Given the description of an element on the screen output the (x, y) to click on. 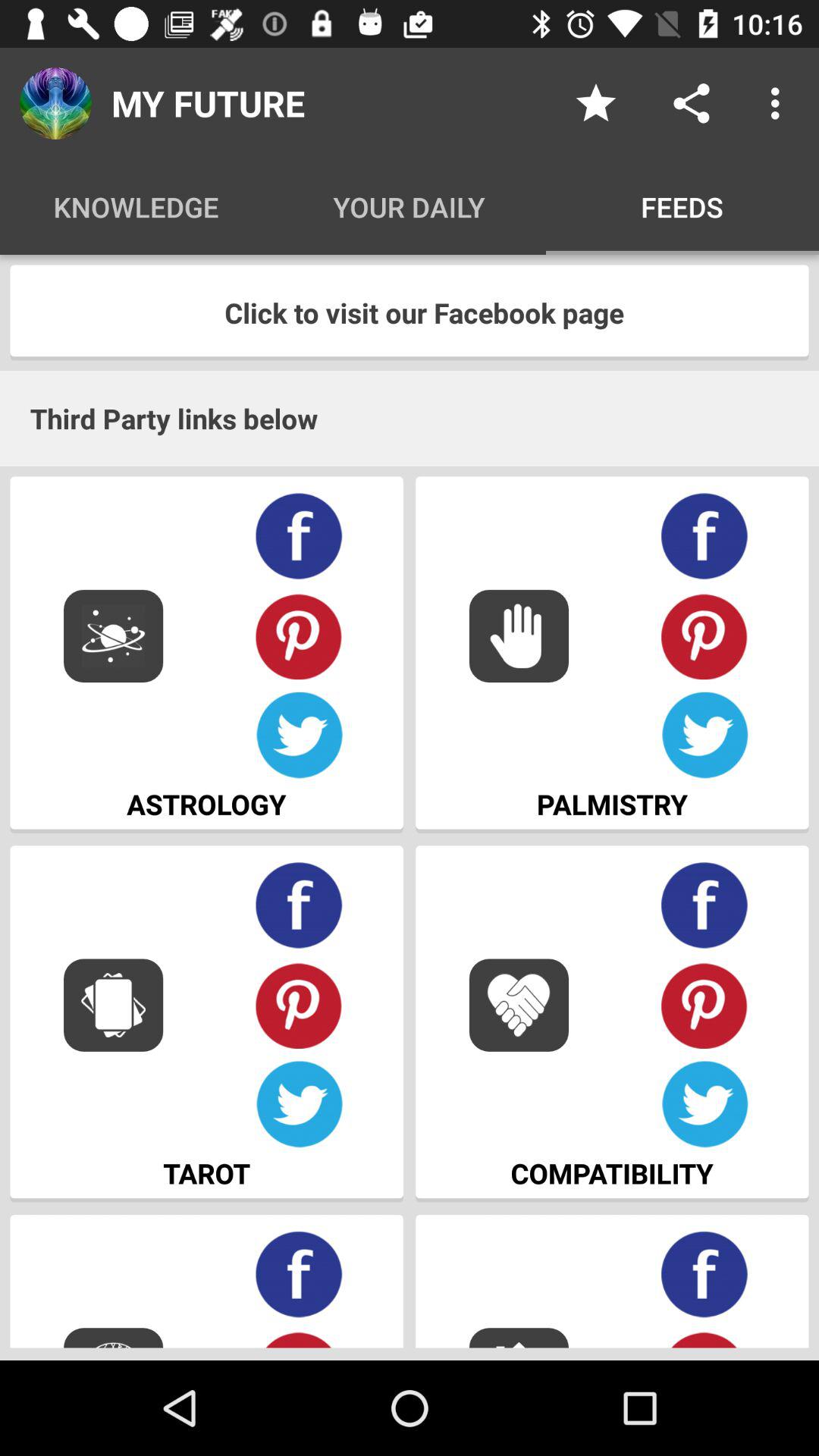
share with facebook (704, 905)
